Given the description of an element on the screen output the (x, y) to click on. 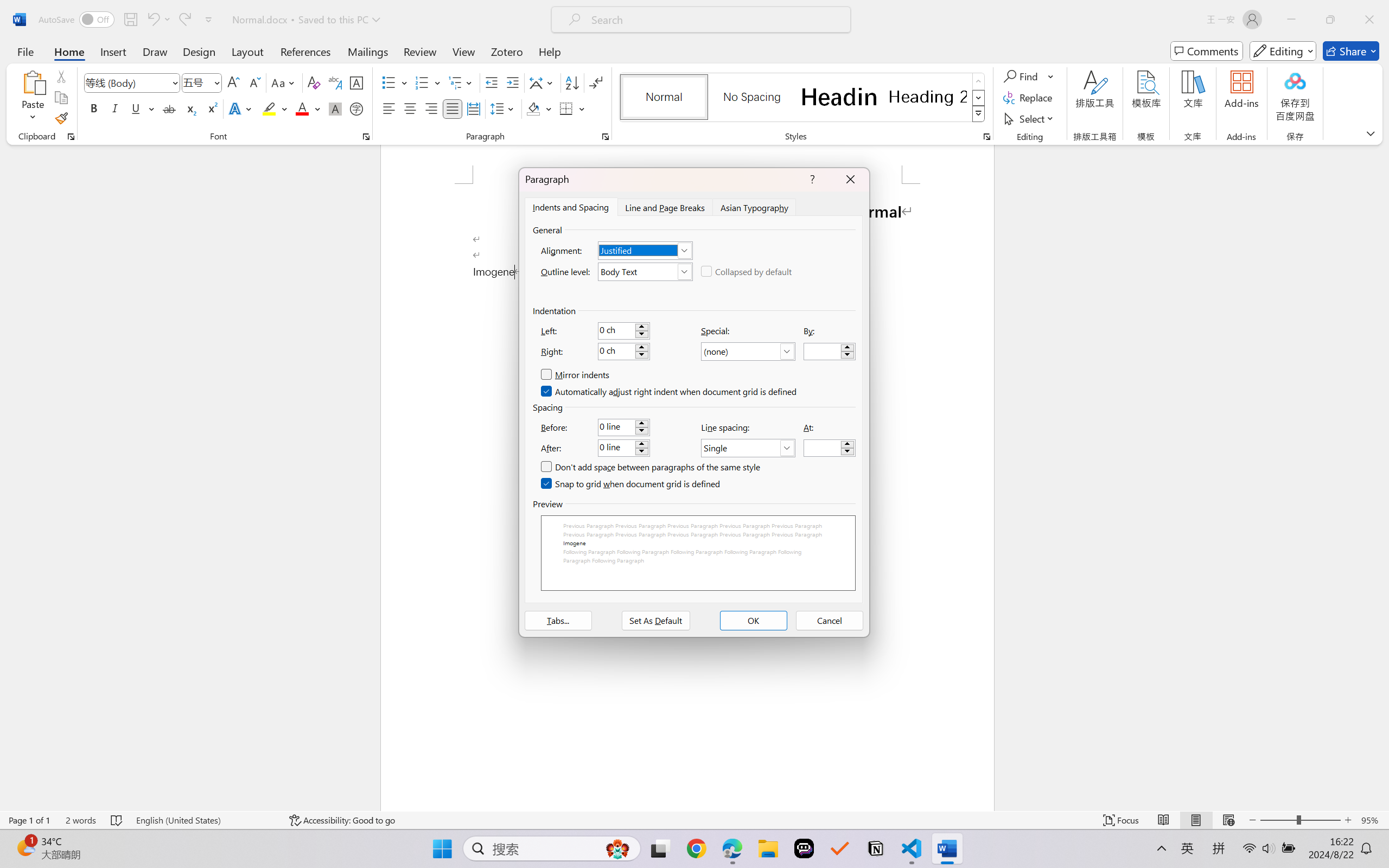
Align Right (431, 108)
Font Color (308, 108)
AutomationID: QuickStylesGallery (802, 97)
Outline level: (645, 271)
Notion (875, 848)
Alignment: (645, 250)
Collapsed by default (747, 271)
Left: (623, 330)
